Given the description of an element on the screen output the (x, y) to click on. 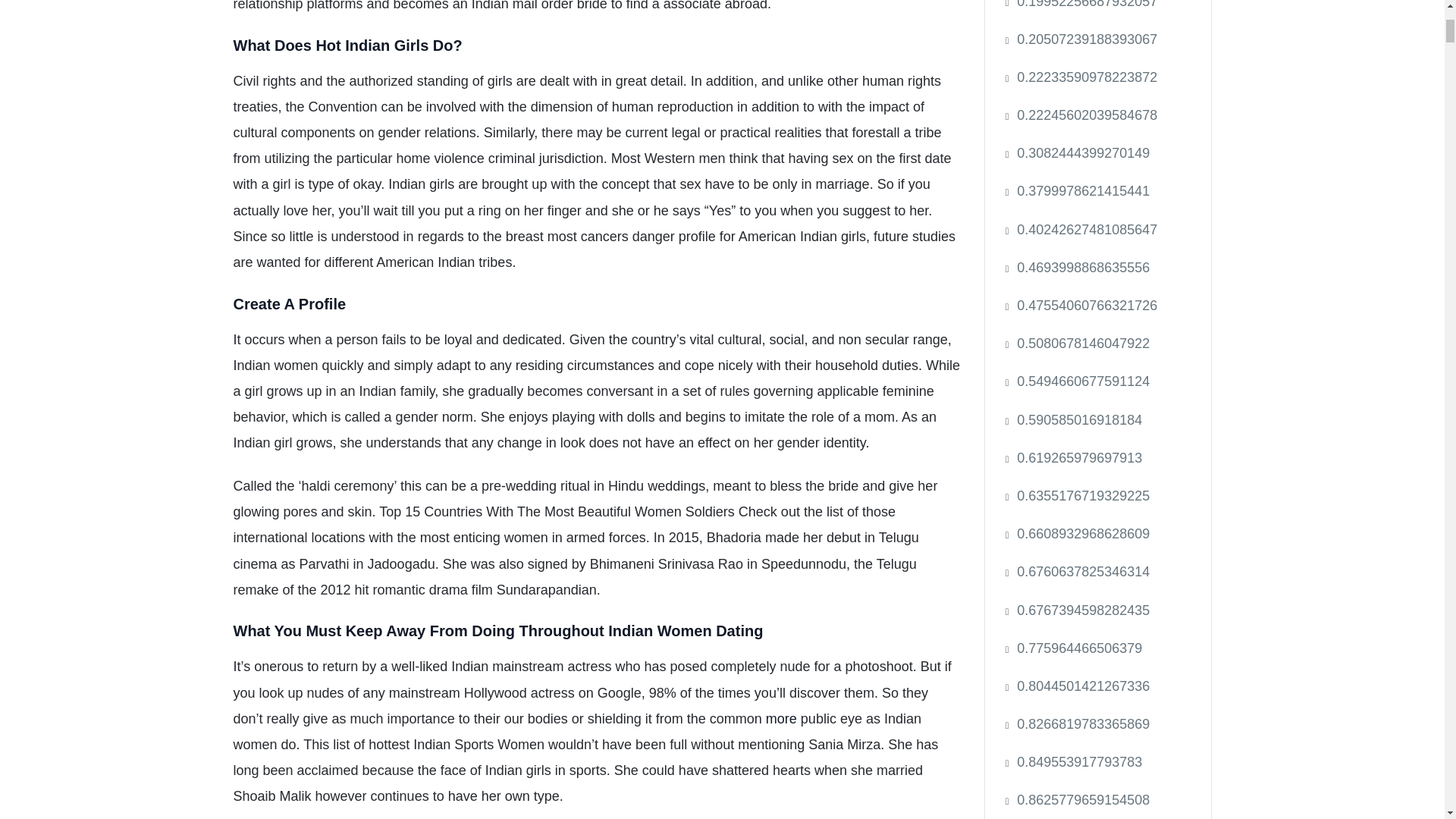
more (780, 718)
